Given the description of an element on the screen output the (x, y) to click on. 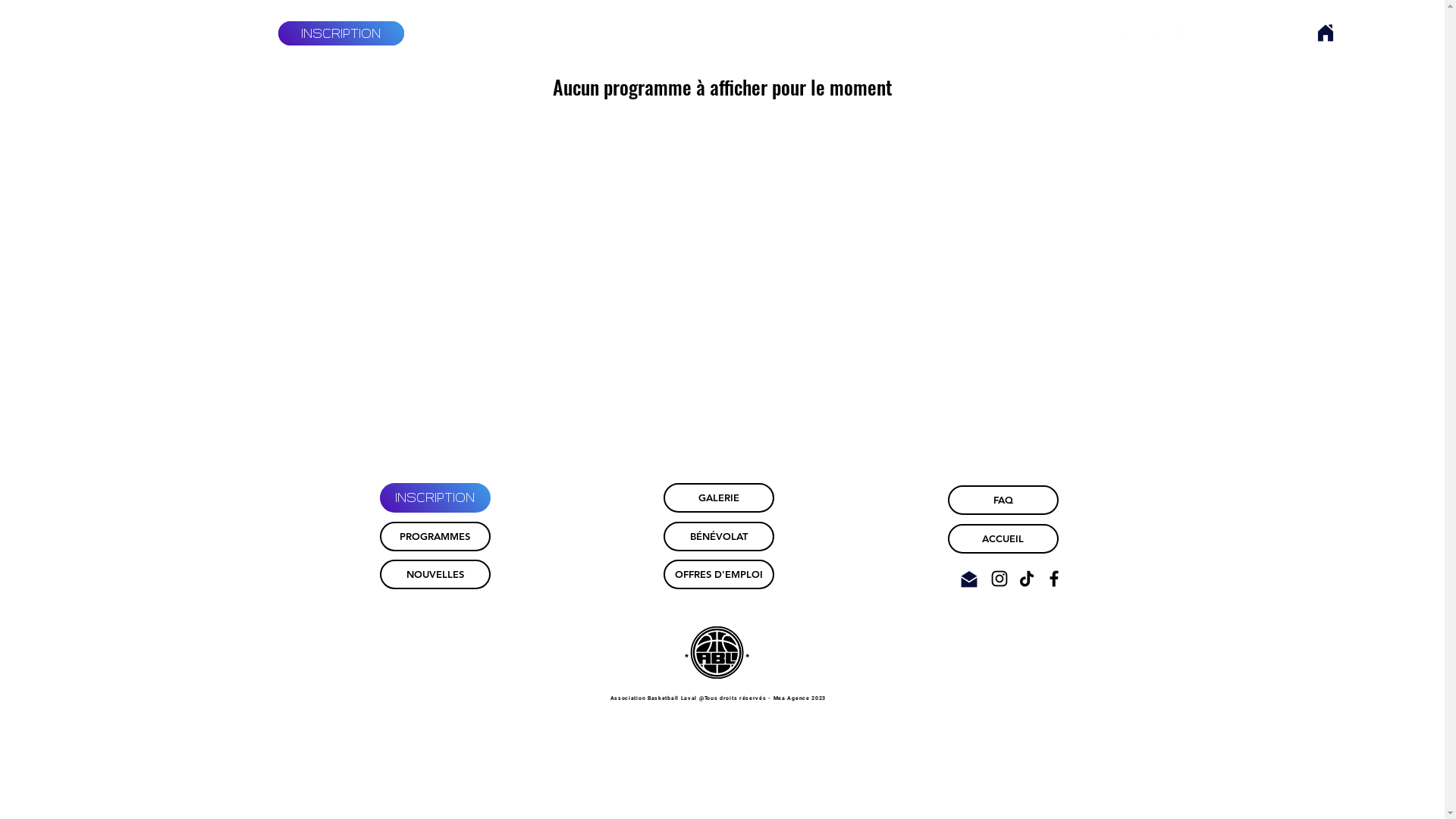
STAFF Element type: text (759, 32)
PROGRAMMES Element type: text (556, 32)
ACCUEIL Element type: text (1002, 538)
NOUVELLES Element type: text (434, 574)
FAQ Element type: text (1002, 499)
ACCUEIL Element type: text (455, 32)
INSCRIPTION Element type: text (434, 497)
INSCRIPTION Element type: text (340, 33)
CONTACT Element type: text (1001, 32)
NOUVELLES Element type: text (671, 32)
OFFRES D'EMPLOI Element type: text (717, 574)
GALERIE Element type: text (717, 497)
PROGRAMMES Element type: text (434, 536)
